Given the description of an element on the screen output the (x, y) to click on. 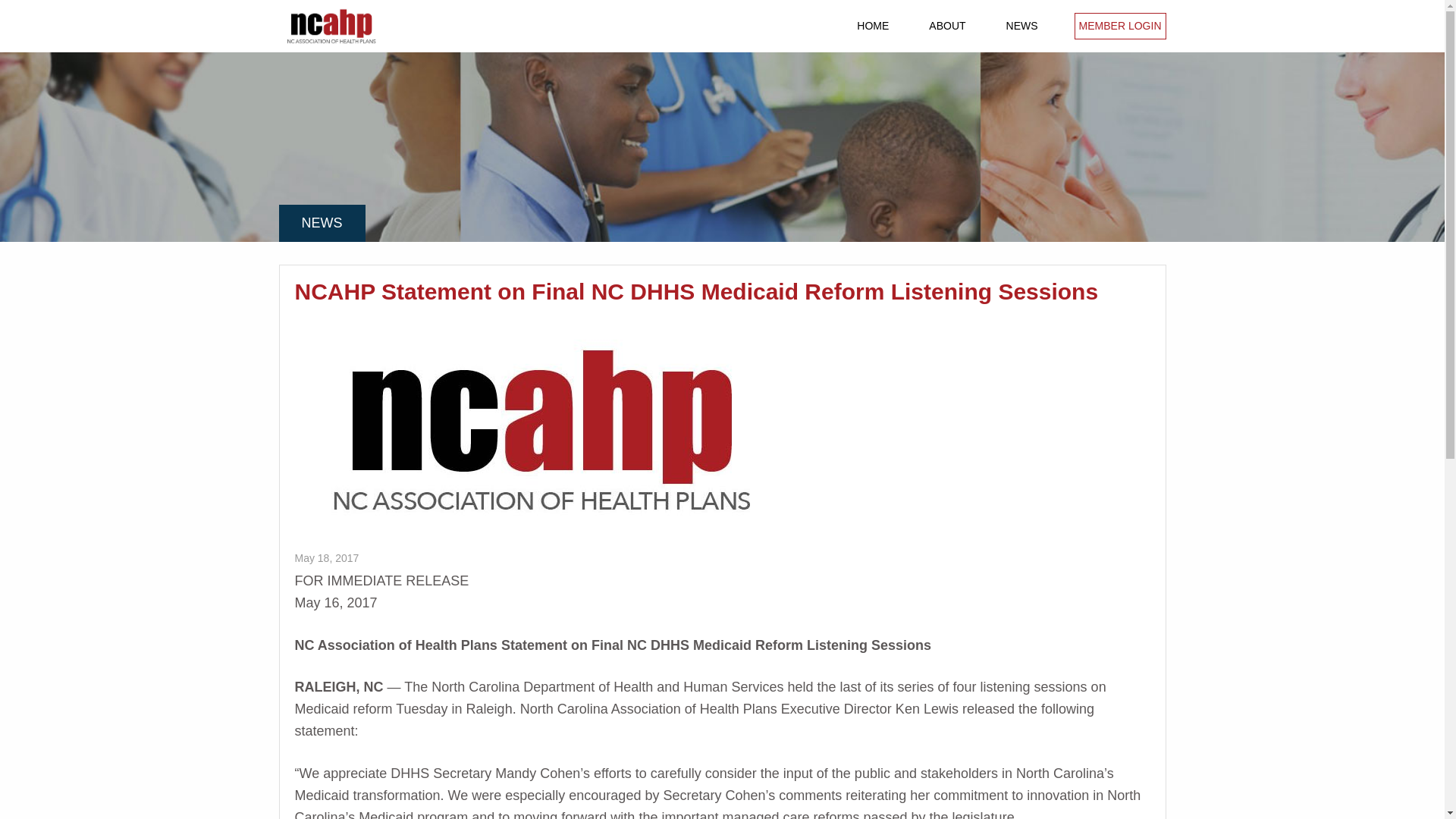
ABOUT (947, 26)
NCAHP (356, 26)
NEWS (1022, 26)
HOME (872, 26)
MEMBER LOGIN (1120, 26)
